Given the description of an element on the screen output the (x, y) to click on. 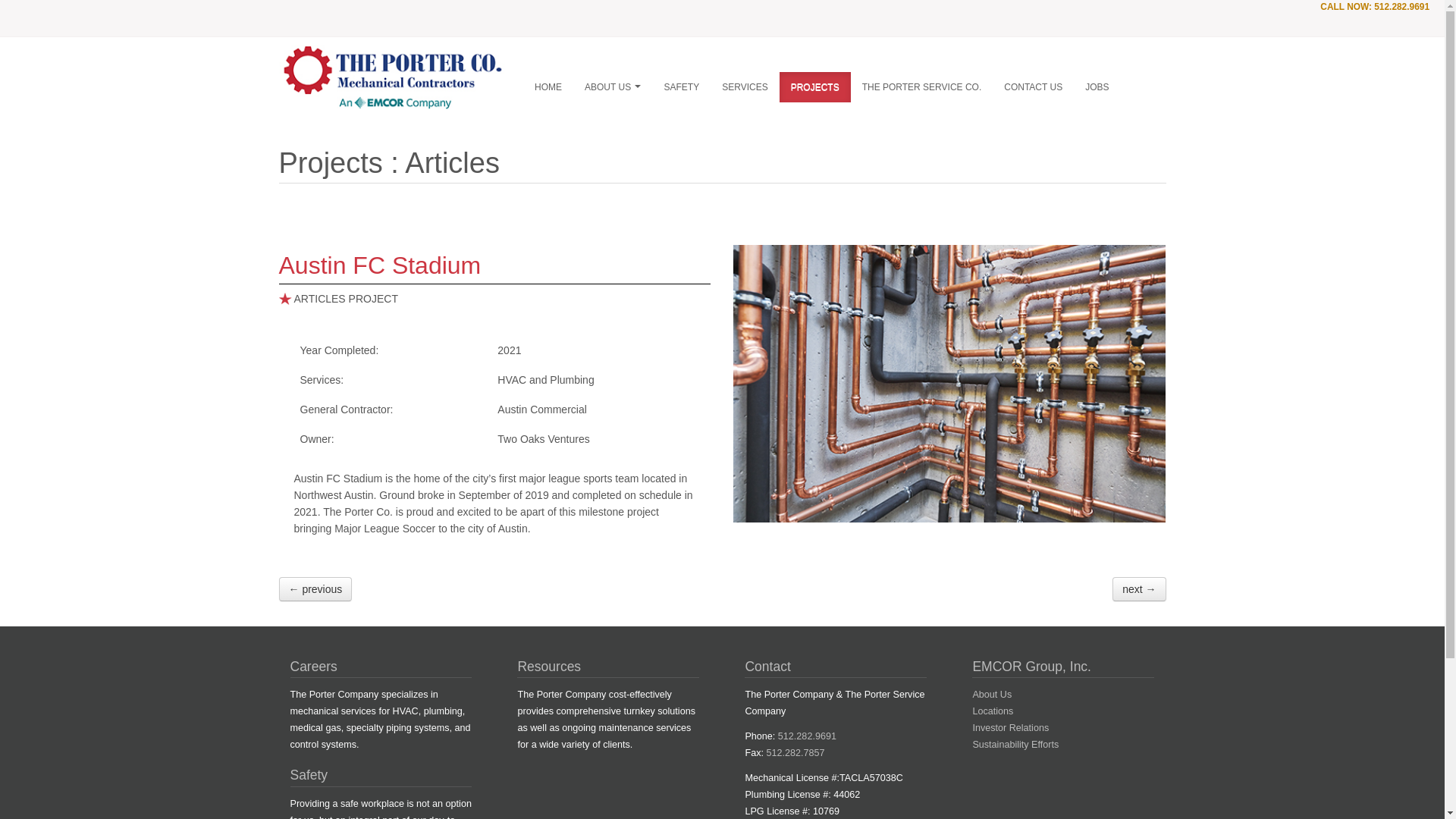
Instagram (1352, 25)
SAFETY (681, 87)
Austin FC Stadium (949, 382)
JOBS (1096, 87)
ABOUT US (612, 87)
EMCOR Group, Inc. (1031, 666)
PROJECTS (814, 87)
Austin FC Stadium (380, 265)
CONTACT US (1033, 87)
Investor Relations (1010, 727)
